Given the description of an element on the screen output the (x, y) to click on. 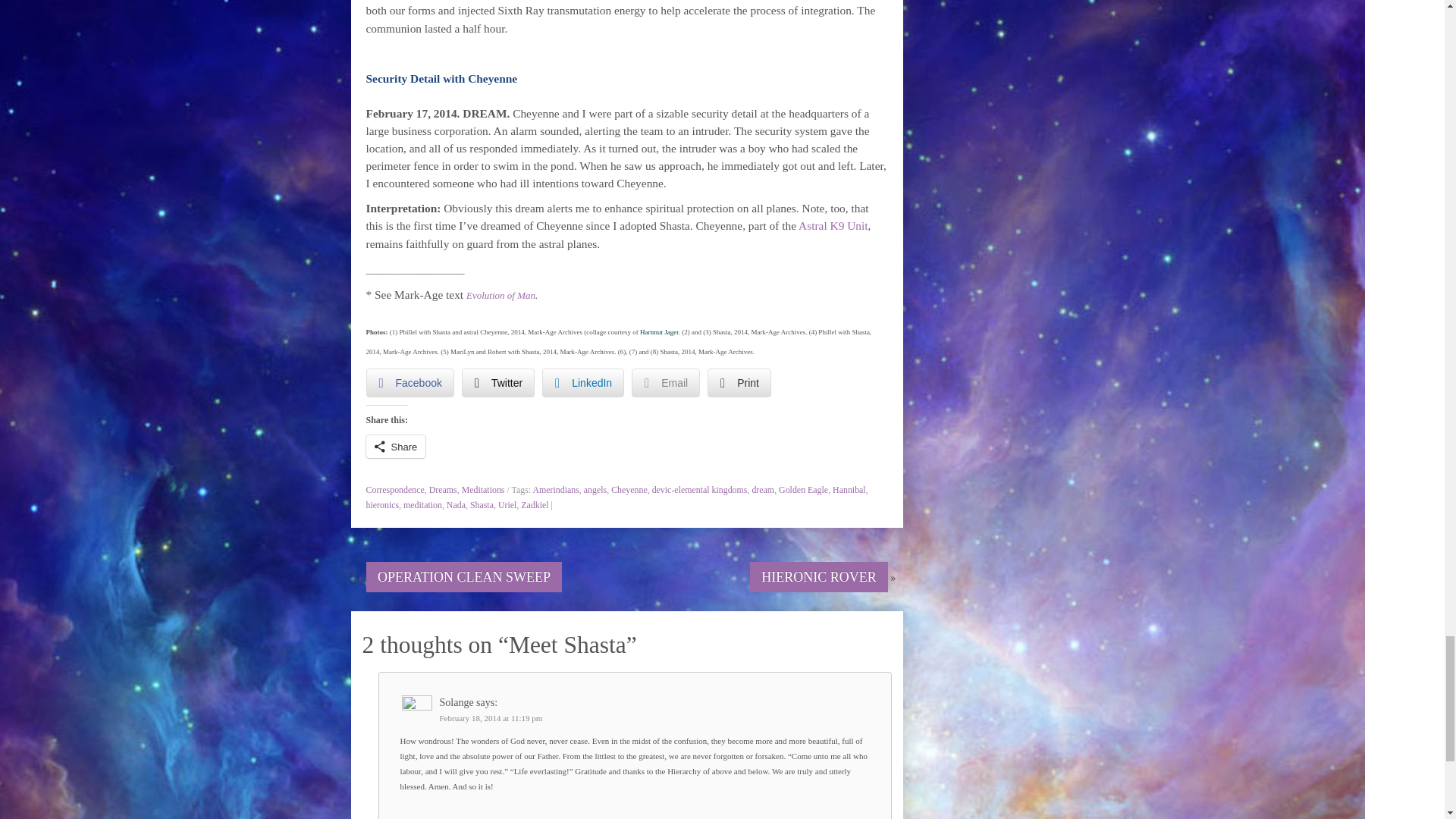
Hartmut Jager (659, 331)
Evolution of Man (500, 294)
Facebook (408, 382)
Dreams (443, 489)
Email (665, 382)
Meditations (483, 489)
Share (395, 445)
Astral K9 Unit (832, 225)
Print (739, 382)
Twitter (497, 382)
LinkedIn (582, 382)
Correspondence (394, 489)
